Given the description of an element on the screen output the (x, y) to click on. 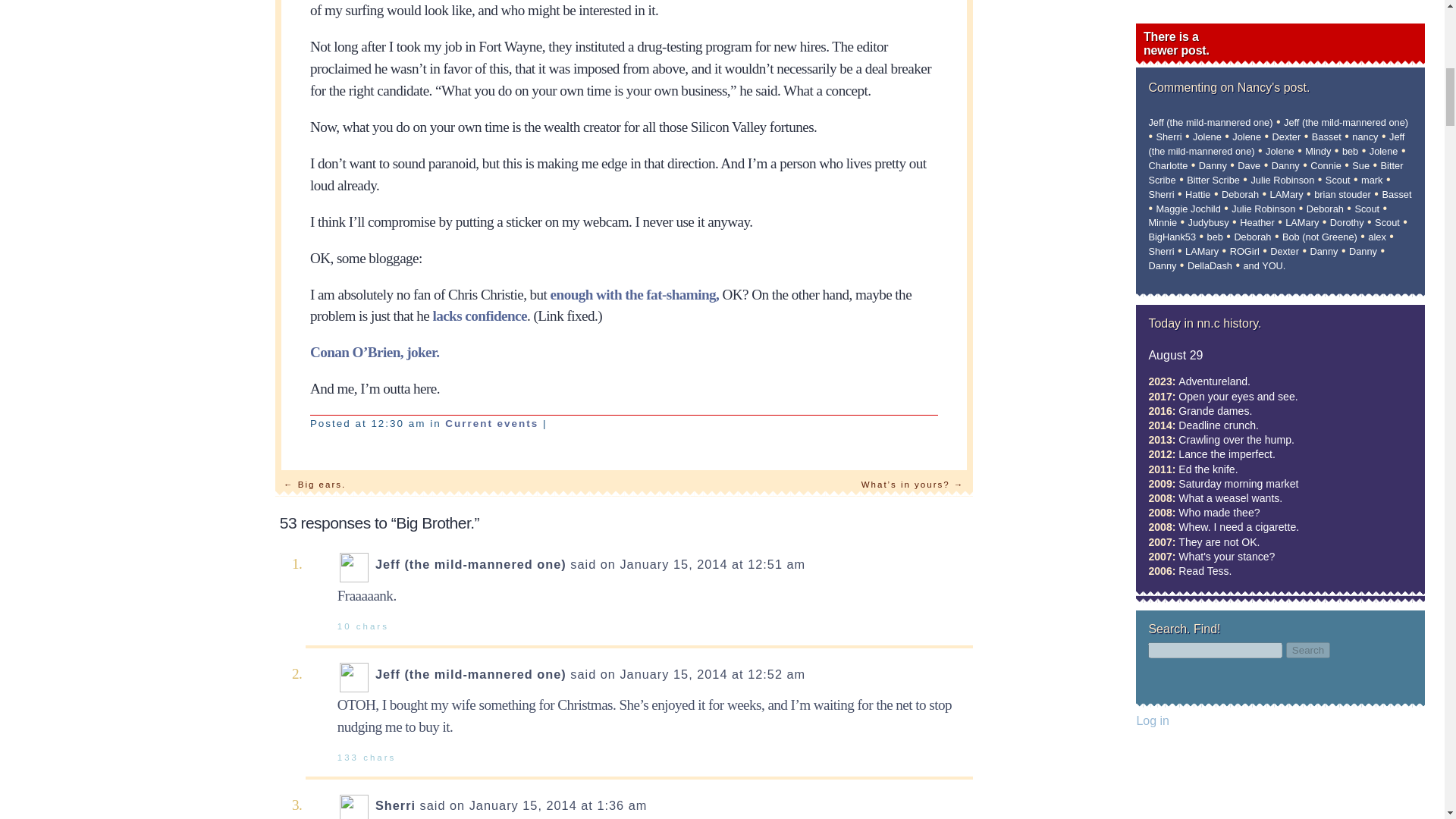
lacks confidence (479, 315)
Current events (491, 423)
enough with the fat-shaming, (634, 294)
